Given the description of an element on the screen output the (x, y) to click on. 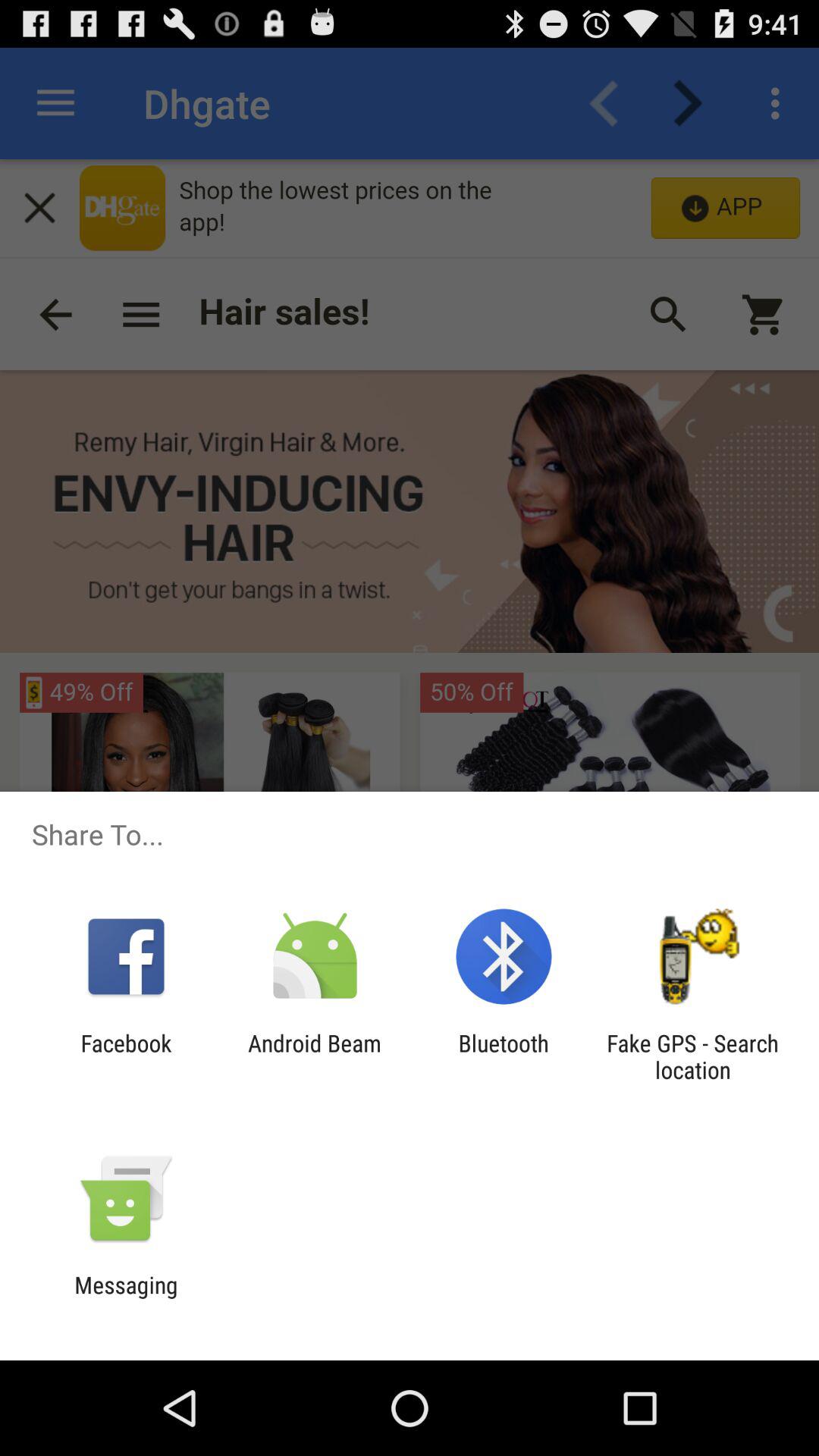
jump to android beam icon (314, 1056)
